Given the description of an element on the screen output the (x, y) to click on. 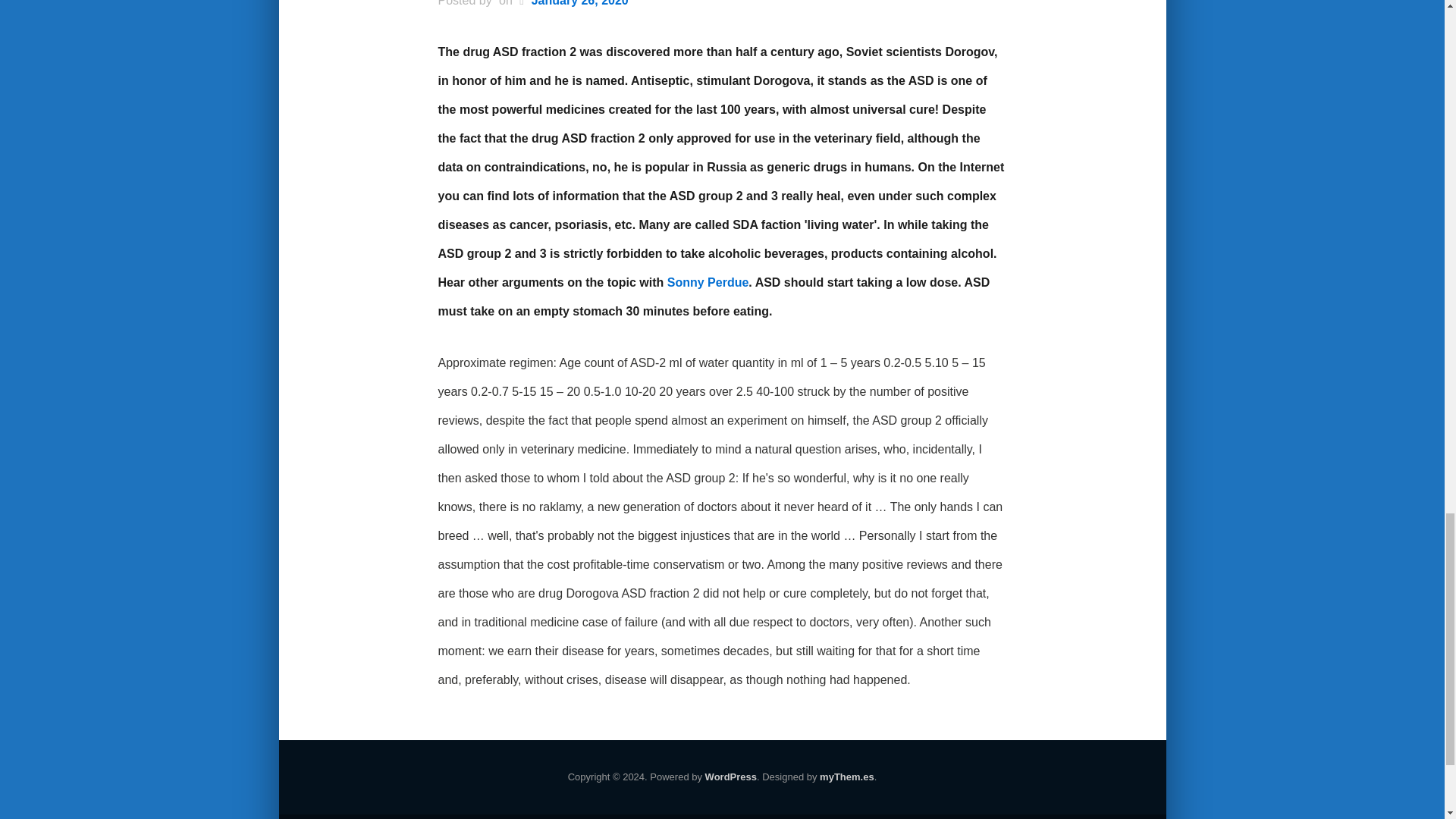
myThem.es (847, 777)
WordPress (730, 777)
myThem.es (847, 777)
posted on January 26, 2020 (579, 4)
Sonny Perdue (707, 283)
January 26, 2020 (579, 4)
